Given the description of an element on the screen output the (x, y) to click on. 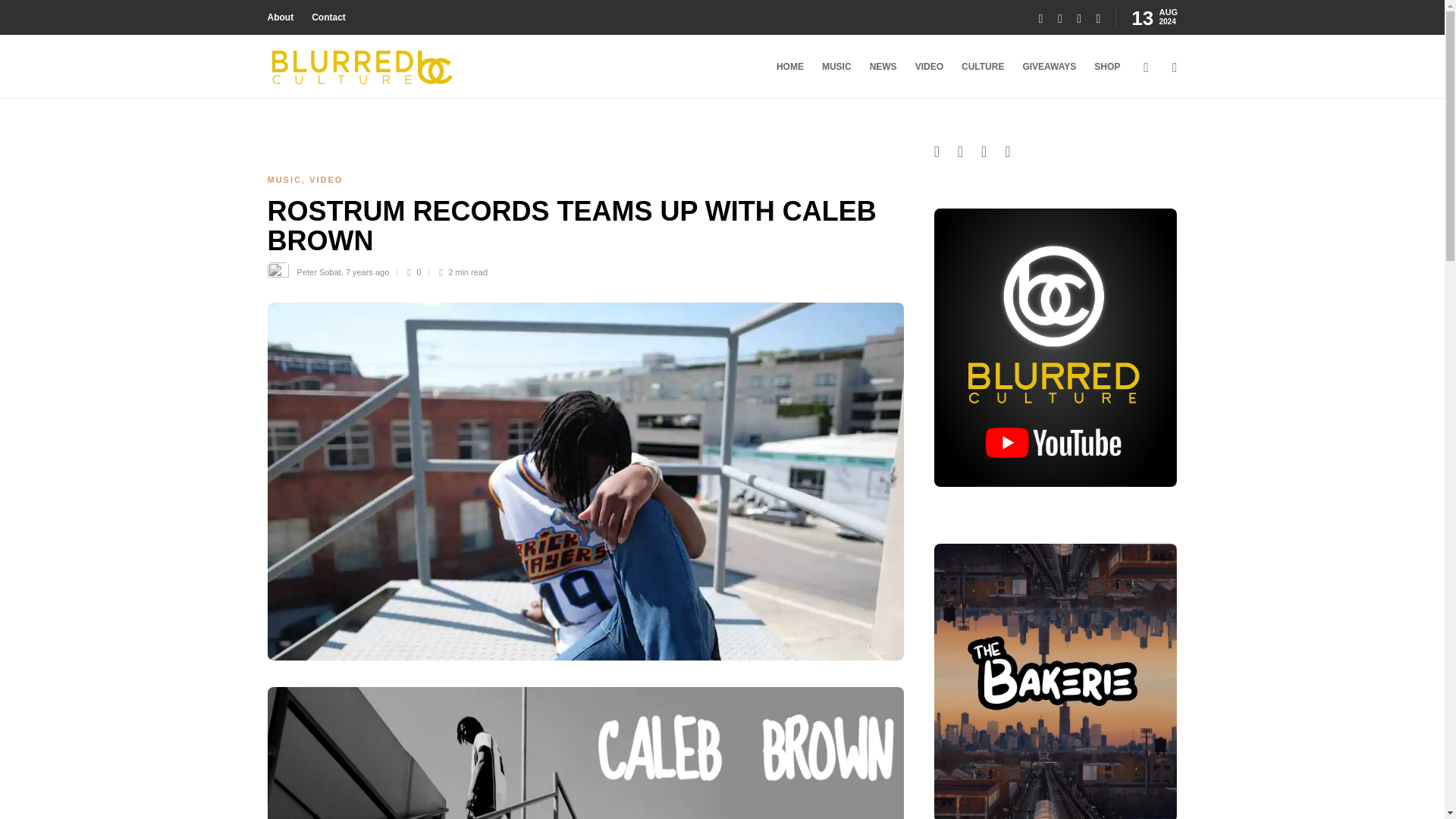
7 years ago (367, 271)
Contact (328, 17)
VIDEO (325, 179)
MUSIC (283, 179)
GIVEAWAYS (1048, 66)
Peter Sobat (318, 271)
ROSTRUM RECORDS TEAMS UP WITH CALEB BROWN (573, 229)
0 (417, 272)
